Given the description of an element on the screen output the (x, y) to click on. 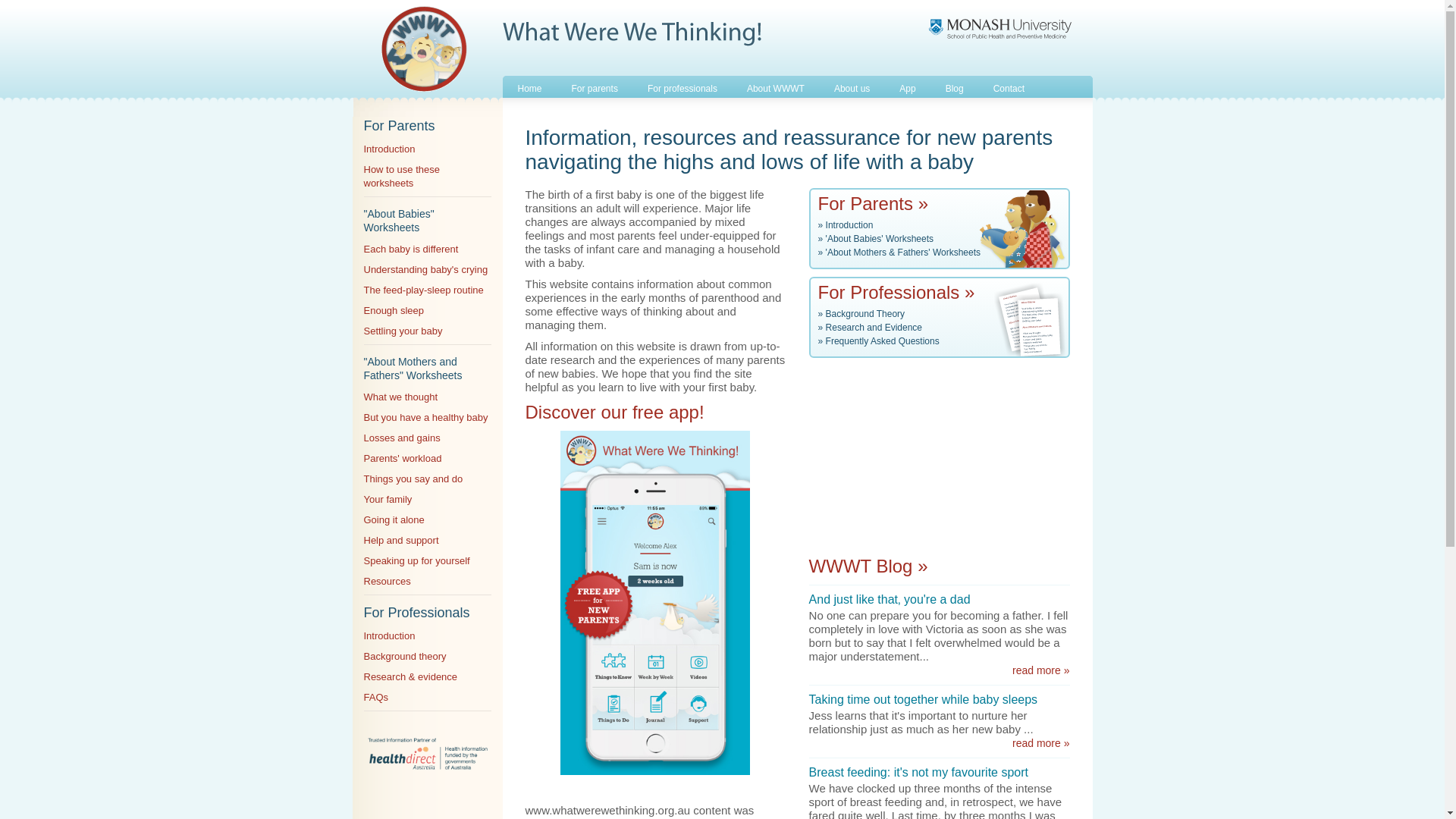
Going it alone Element type: text (394, 519)
But you have a healthy baby Element type: text (426, 417)
Research & evidence Element type: text (411, 676)
'About Mothers & Fathers' Worksheets Element type: text (902, 252)
The feed-play-sleep routine Element type: text (423, 289)
Background Theory Element type: text (865, 313)
Things you say and do Element type: text (413, 478)
Speaking up for yourself Element type: text (417, 560)
Help and support Element type: text (401, 540)
Blog Element type: text (954, 83)
About us Element type: text (851, 83)
Home Element type: text (528, 83)
Introduction Element type: text (389, 148)
Introduction Element type: text (389, 635)
Settling your baby Element type: text (403, 330)
'About Babies' Worksheets Element type: text (879, 238)
App Element type: text (906, 83)
What we thought Element type: text (401, 396)
How to use these worksheets Element type: text (401, 175)
Each baby is different Element type: text (411, 248)
Background theory Element type: text (405, 656)
Frequently Asked Questions Element type: text (882, 340)
Resources Element type: text (387, 580)
Enough sleep Element type: text (394, 310)
About WWWT Element type: text (775, 83)
Research and Evidence Element type: text (873, 327)
Breast feeding: it's not my favourite sport Element type: text (918, 771)
FAQs Element type: text (376, 696)
For professionals Element type: text (681, 83)
Introduction Element type: text (849, 224)
Your family Element type: text (388, 499)
For parents Element type: text (594, 83)
Parents' workload Element type: text (403, 458)
Understanding baby's crying Element type: text (426, 269)
Contact Element type: text (1008, 83)
Losses and gains Element type: text (402, 437)
Taking time out together while baby sleeps Element type: text (923, 699)
